Given the description of an element on the screen output the (x, y) to click on. 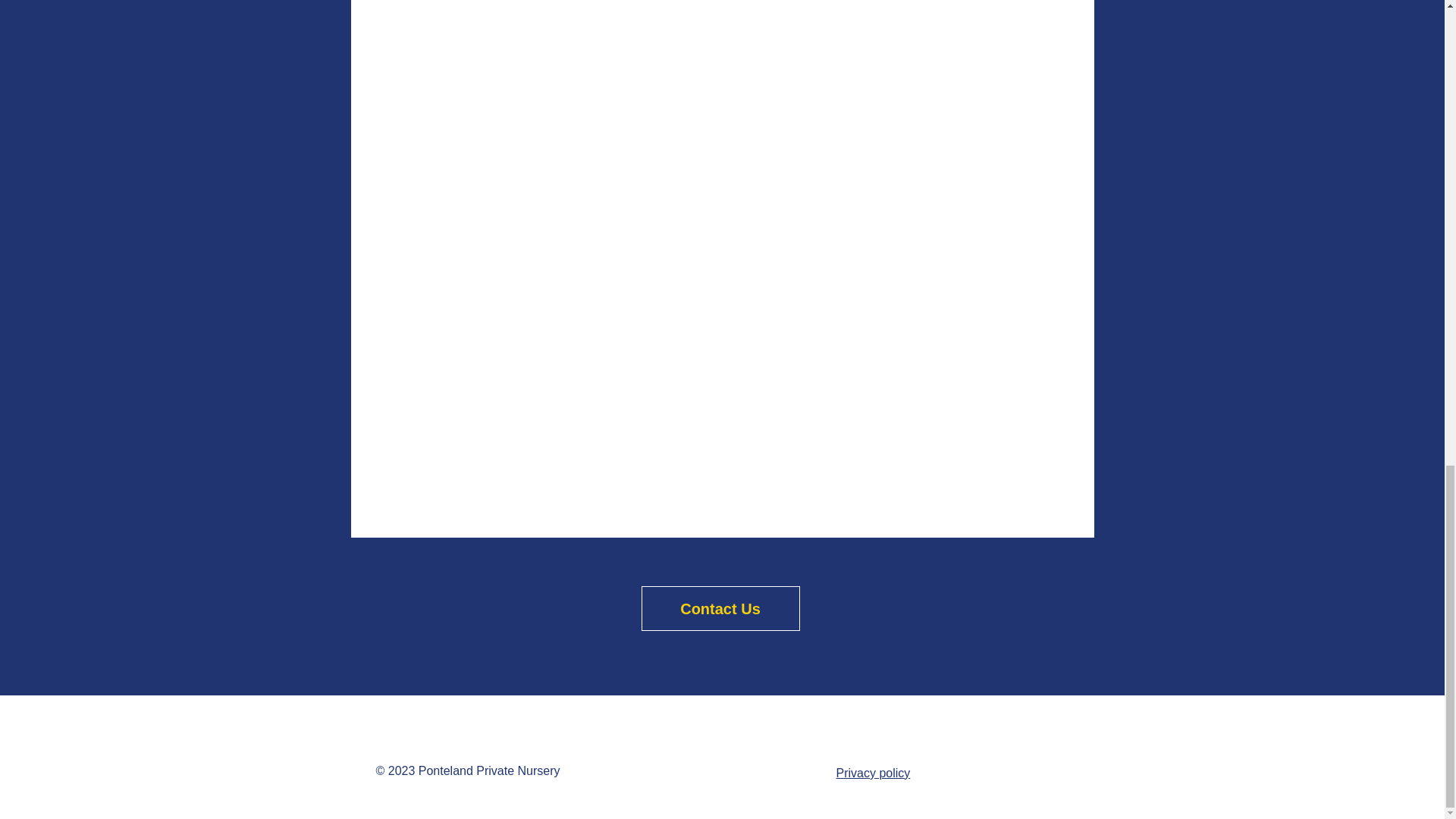
Contact Us (720, 608)
Privacy policy (872, 772)
